Given the description of an element on the screen output the (x, y) to click on. 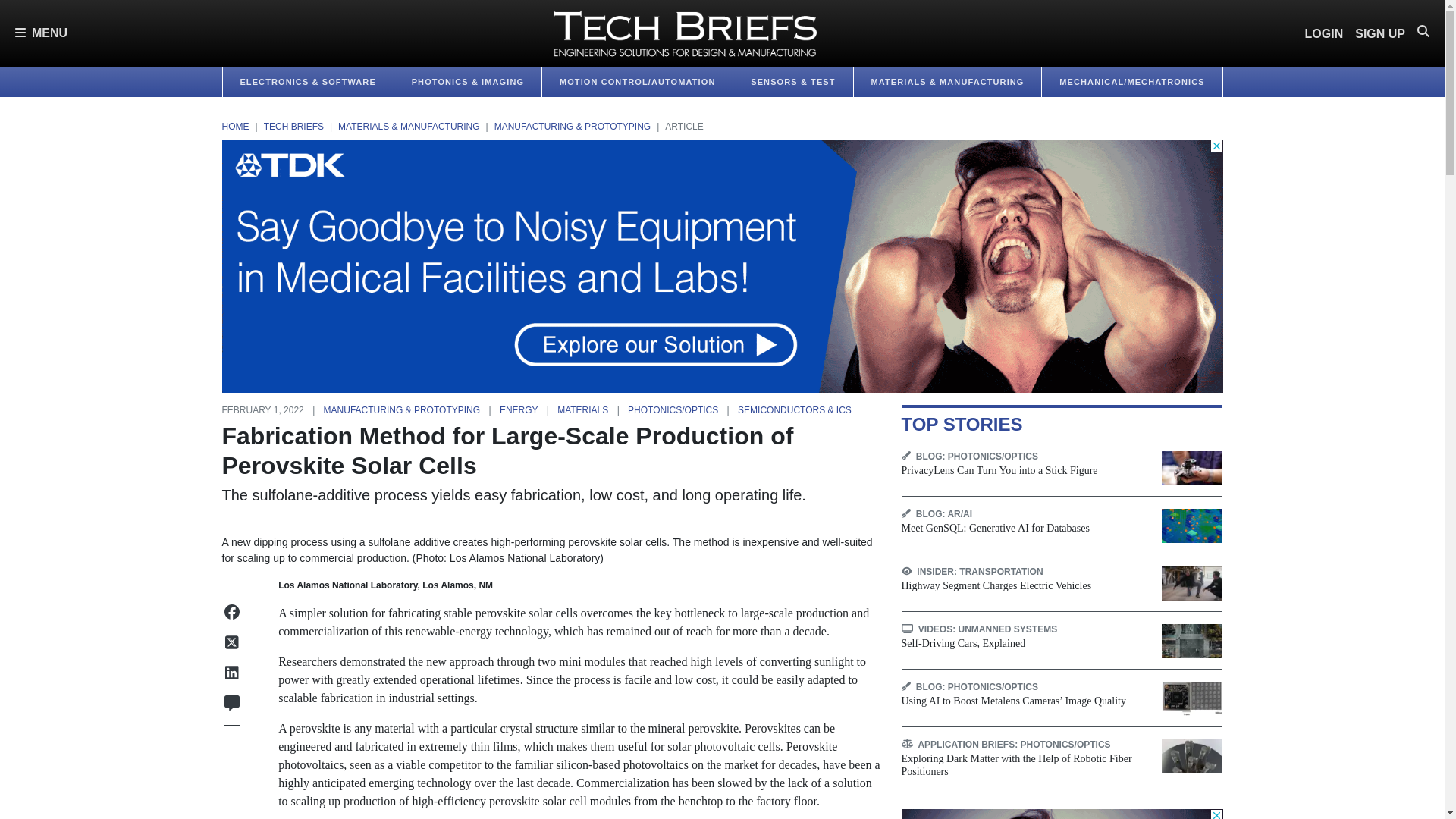
LOGIN (1323, 32)
MENU (41, 33)
3rd party ad content (1062, 814)
SIGN UP (1379, 32)
